Given the description of an element on the screen output the (x, y) to click on. 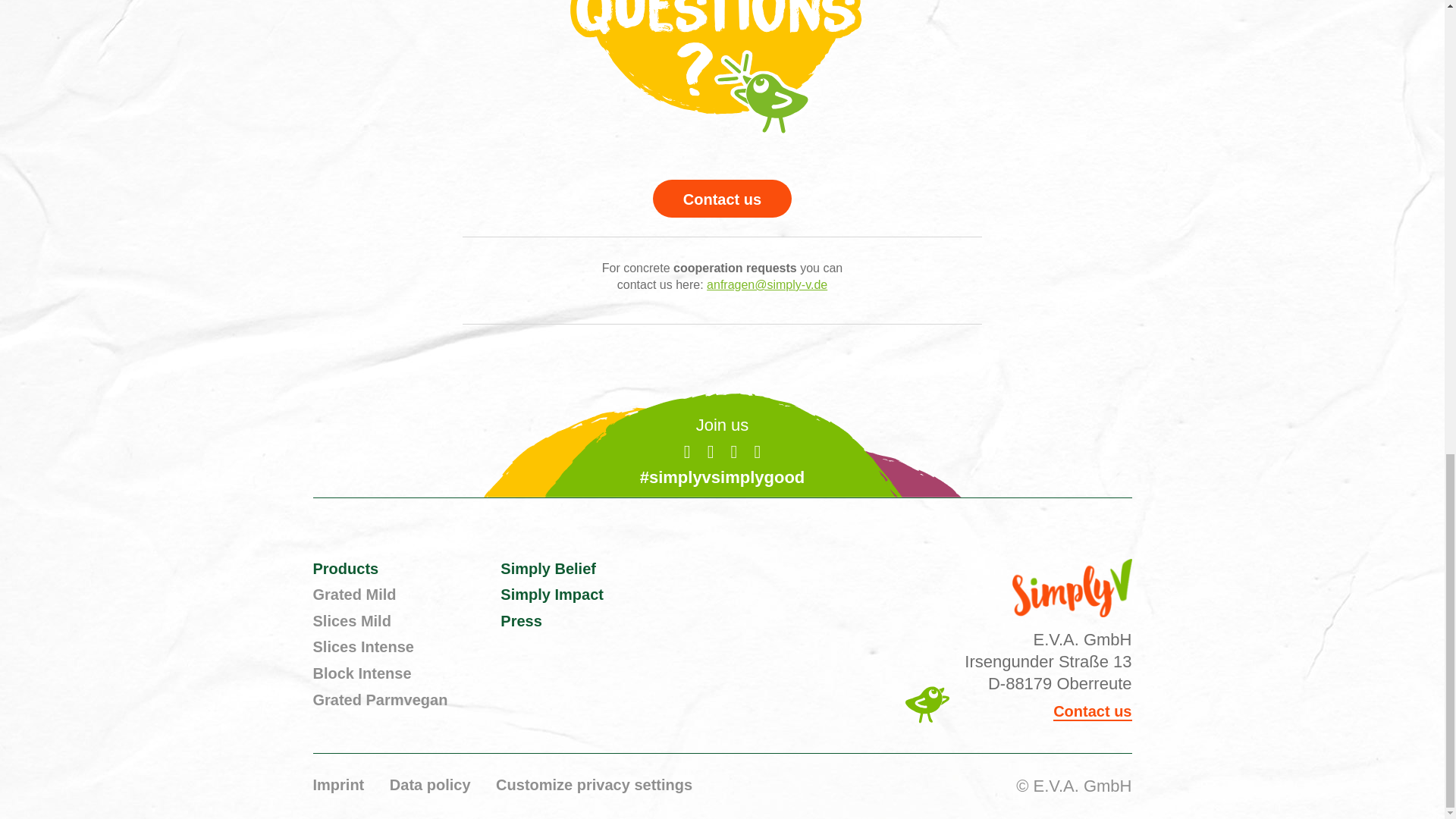
Contact us (722, 198)
